Given the description of an element on the screen output the (x, y) to click on. 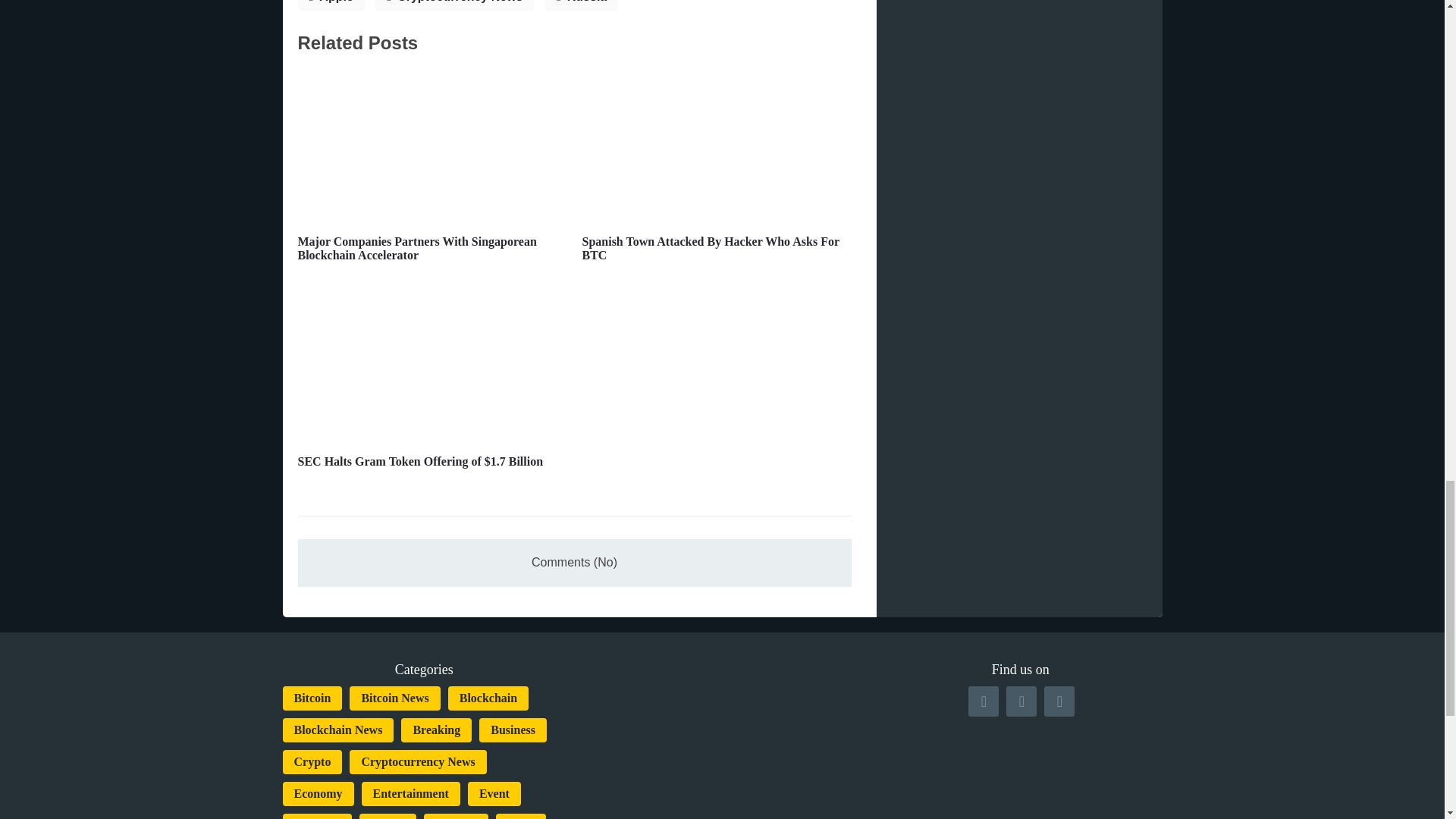
Russia (580, 5)
Apple (330, 5)
Cryptocurrency News (454, 5)
